Given the description of an element on the screen output the (x, y) to click on. 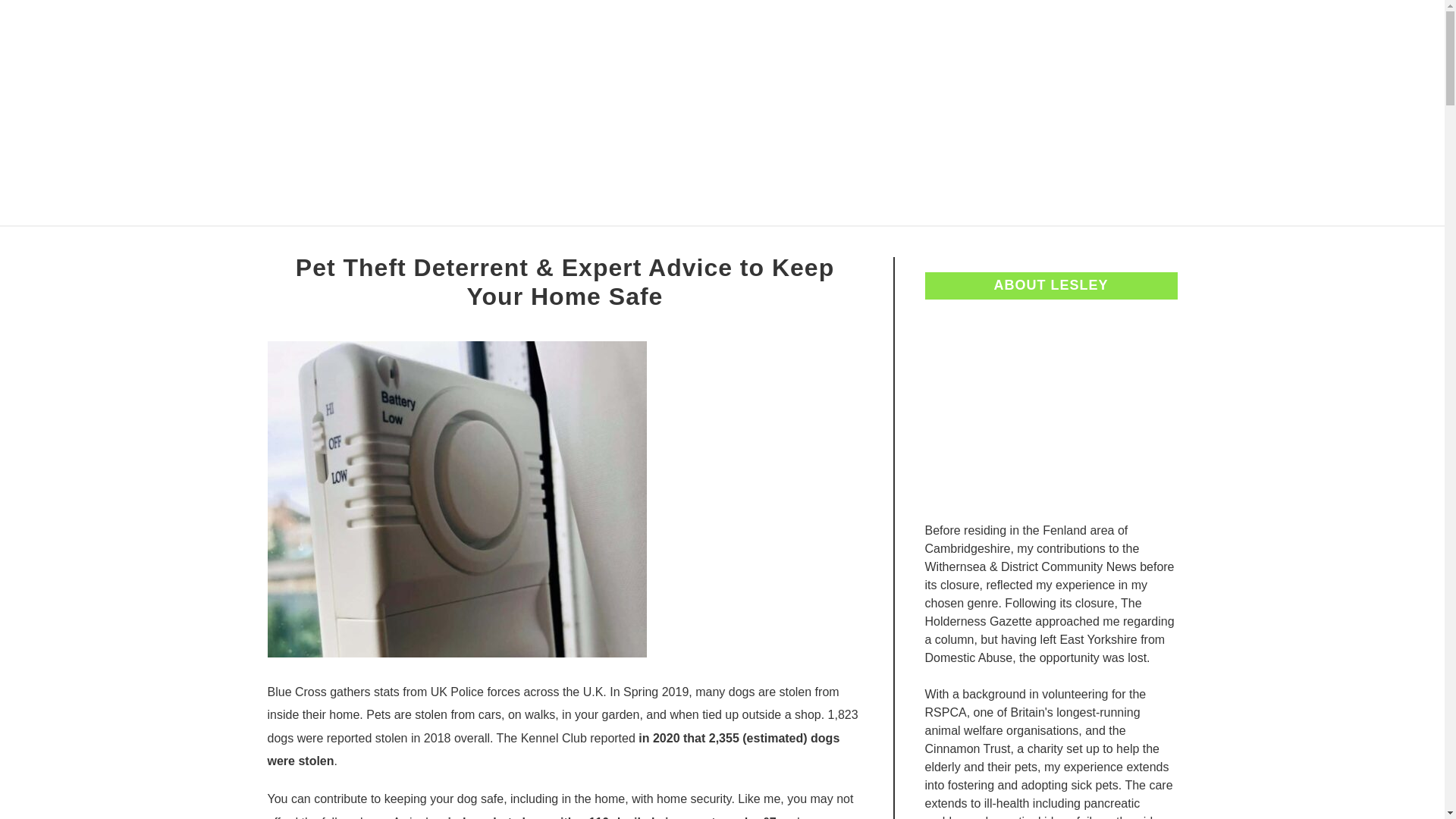
Search (1203, 112)
DOMESTIC PETS (320, 243)
GREEN LIVING (812, 243)
INFO (1048, 243)
SMALL PETS (1139, 243)
